Given the description of an element on the screen output the (x, y) to click on. 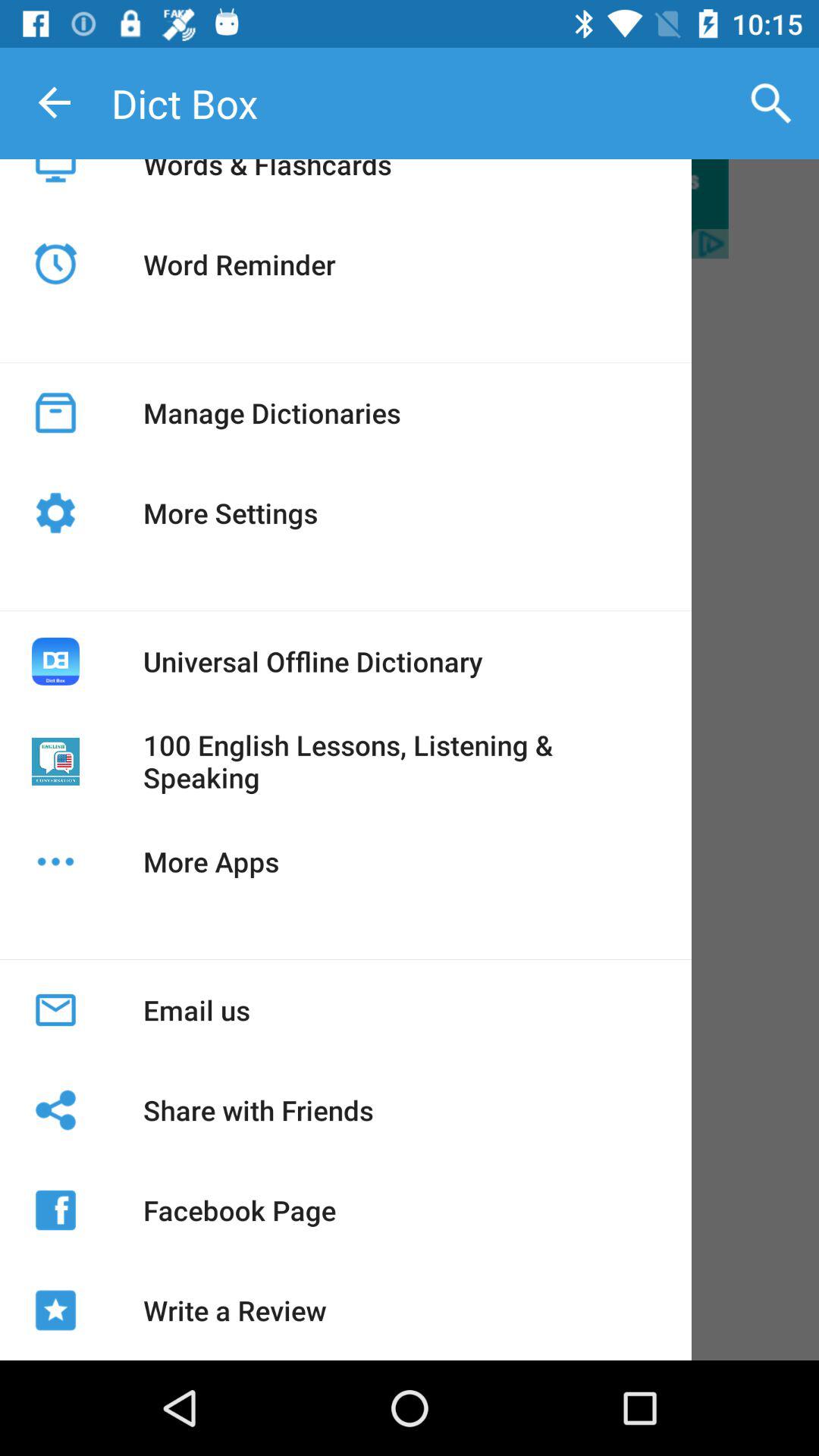
swipe to the email us app (196, 1009)
